Given the description of an element on the screen output the (x, y) to click on. 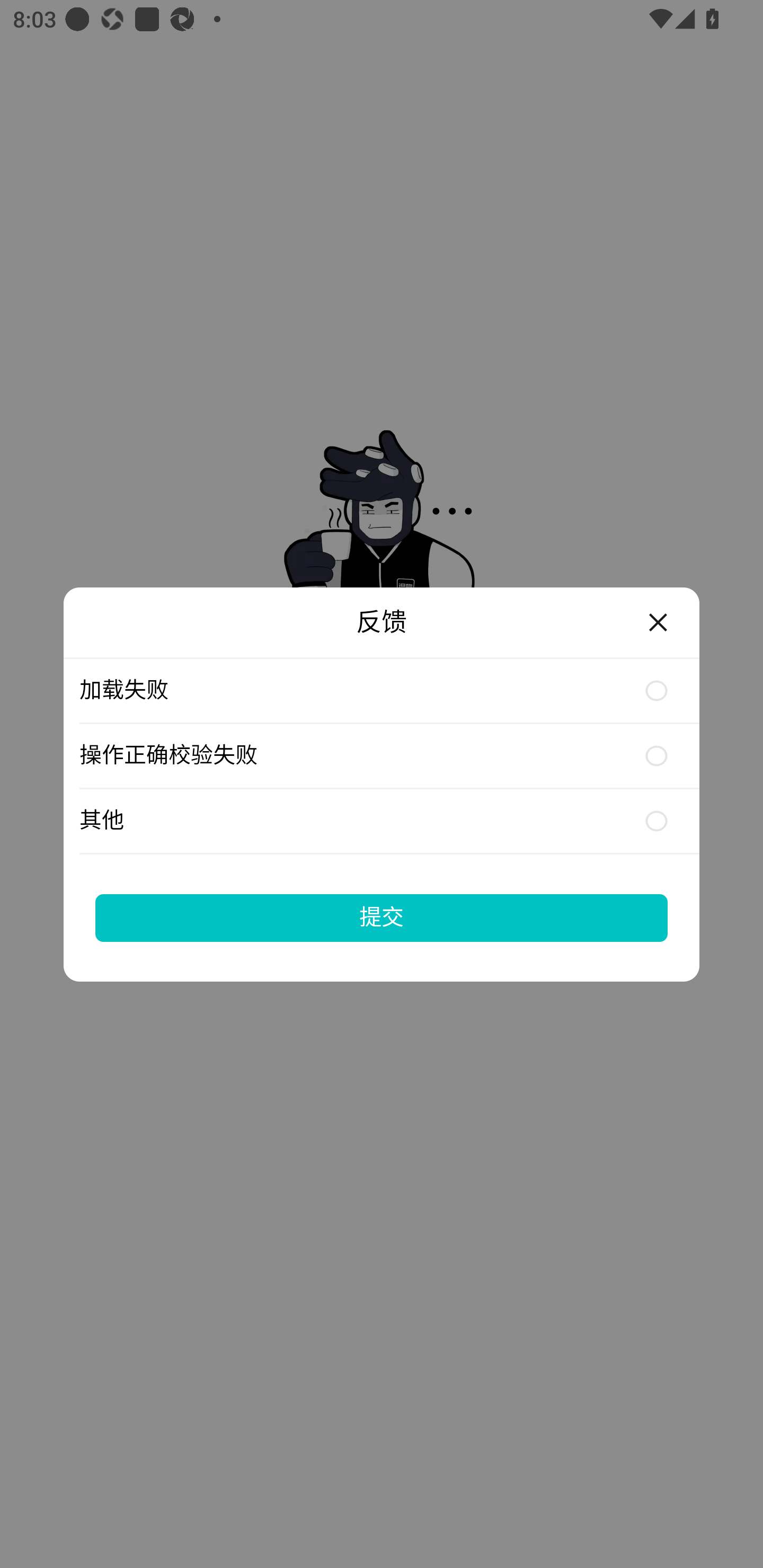
提交 (381, 917)
